Given the description of an element on the screen output the (x, y) to click on. 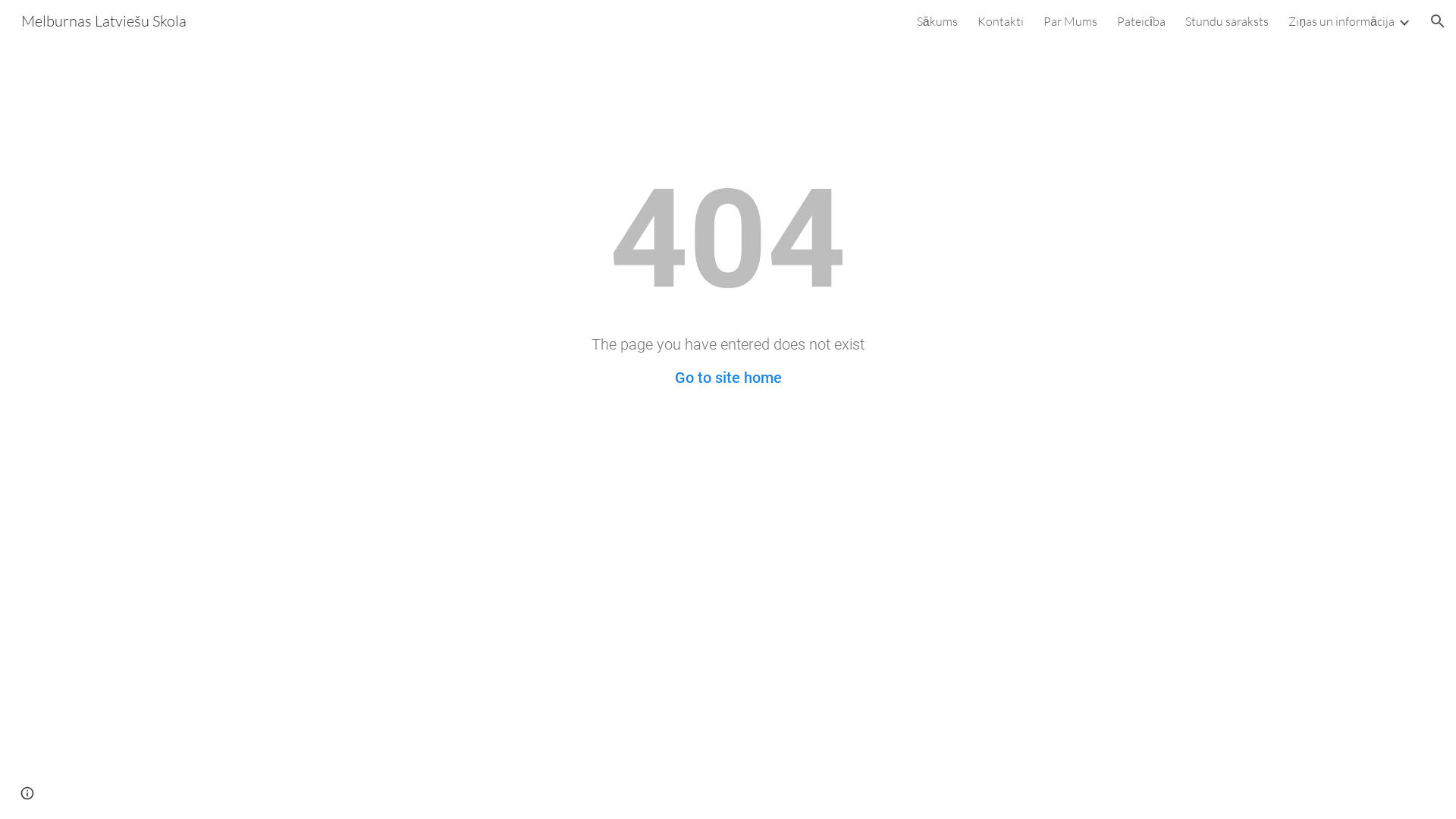
Stundu saraksts Element type: text (1226, 20)
Kontakti Element type: text (1000, 20)
Go to site home Element type: text (727, 377)
Expand/Collapse Element type: hover (1403, 20)
Par Mums Element type: text (1070, 20)
